Given the description of an element on the screen output the (x, y) to click on. 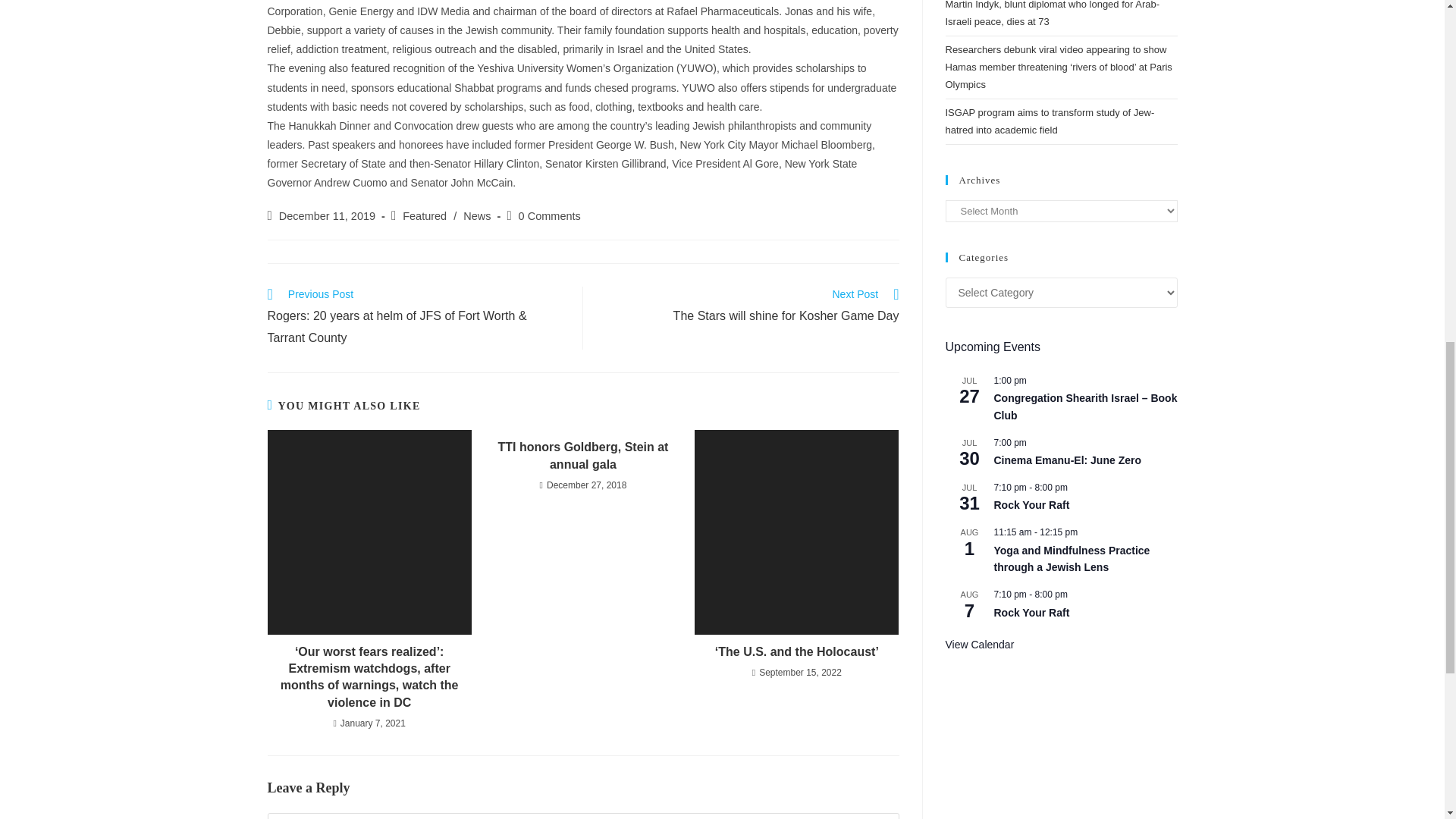
Cinema Emanu-El: June Zero (1066, 460)
Rock Your Raft (1030, 612)
View more events. (978, 644)
Rock Your Raft (1030, 504)
Yoga and Mindfulness Practice through a Jewish Lens (1071, 559)
